Given the description of an element on the screen output the (x, y) to click on. 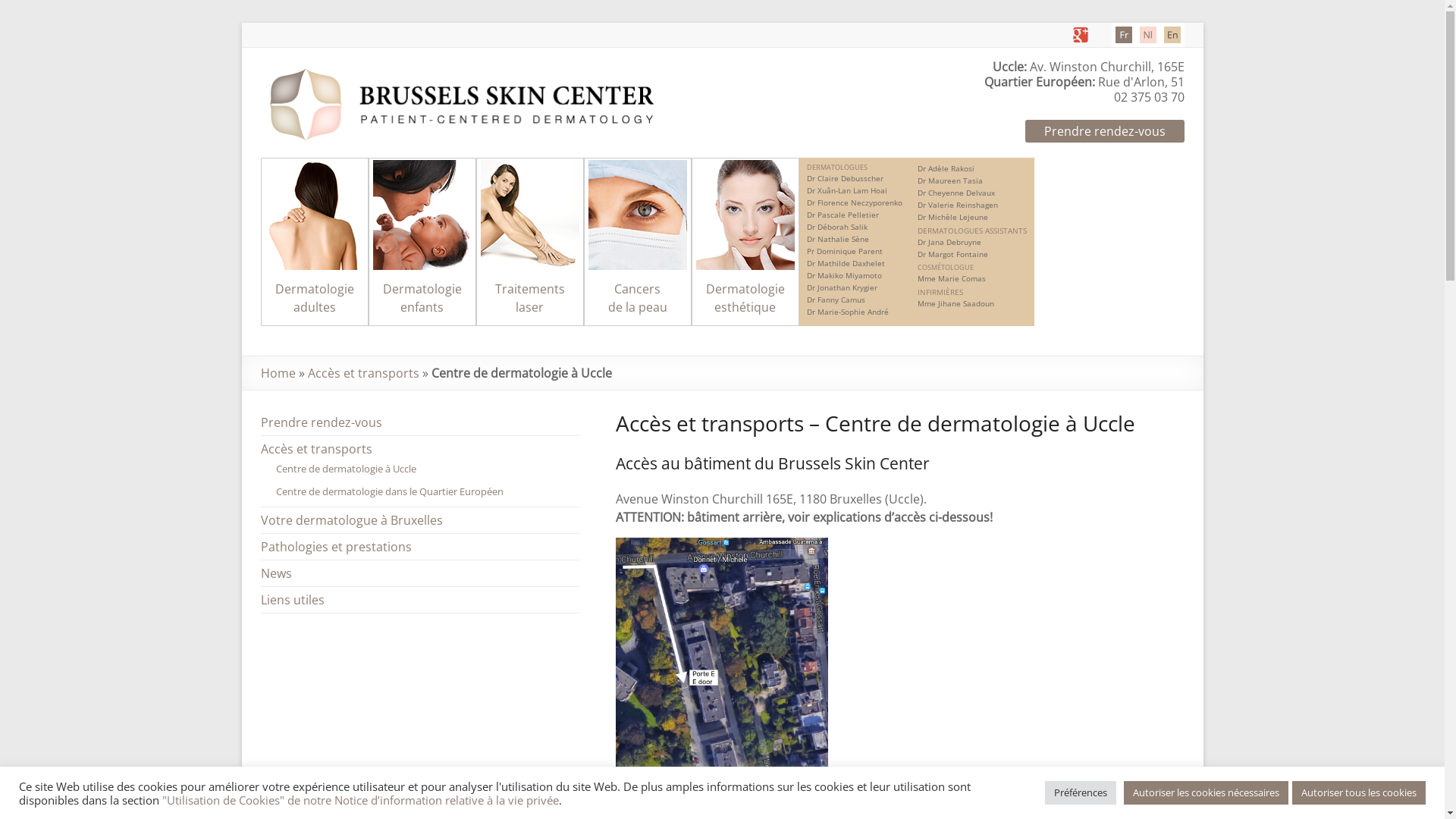
News Element type: text (275, 572)
Dr Valerie Reinshagen Element type: text (957, 204)
Dr Maureen Tasia Element type: text (949, 180)
Mme Jihane Saadoun Element type: text (955, 303)
Dr Cheyenne Delvaux Element type: text (955, 192)
Pathologies et prestations Element type: text (335, 546)
Home Element type: text (277, 372)
Dr Jana Debruyne Element type: text (949, 241)
Dr Margot Fontaine Element type: text (952, 253)
Dr Mathilde Daxhelet Element type: text (845, 262)
Prendre rendez-vous Element type: text (1104, 130)
Prendre rendez-vous Element type: text (1104, 130)
Autoriser tous les cookies Element type: text (1358, 792)
Traitements
laser Element type: text (529, 297)
Dermatologie enfants Element type: text (421, 297)
Mme Marie Comas Element type: text (951, 278)
Dr Makiko Miyamoto Element type: text (843, 274)
Dermatologie adultes Element type: text (313, 297)
Liens utiles Element type: text (292, 599)
Cancers
de la peau Element type: text (637, 297)
Dr Pascale Pelletier Element type: text (842, 214)
Dr Jonathan Krygier Element type: text (841, 287)
Brussels Skin Center Element type: hover (468, 66)
Dr Florence Neczyporenko Element type: text (854, 202)
Pr Dominique Parent Element type: text (844, 250)
Prendre rendez-vous Element type: text (321, 422)
Dr Fanny Camus Element type: text (835, 299)
Dr Claire Debusscher Element type: text (844, 177)
